Given the description of an element on the screen output the (x, y) to click on. 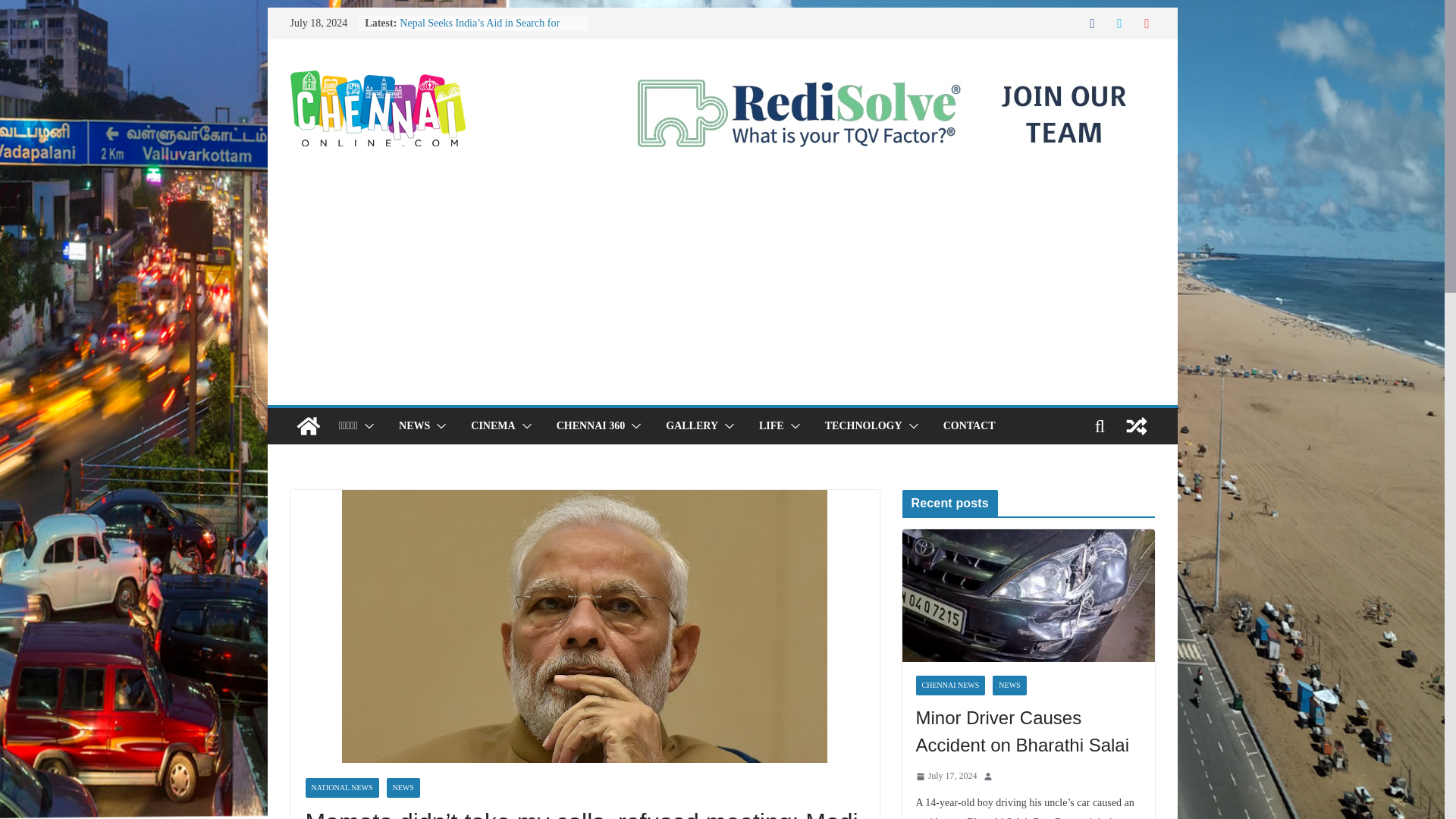
NEWS (413, 425)
Chennaionline (307, 425)
GALLERY (691, 425)
CINEMA (492, 425)
CHENNAI 360 (591, 425)
View a random post (1136, 425)
